Given the description of an element on the screen output the (x, y) to click on. 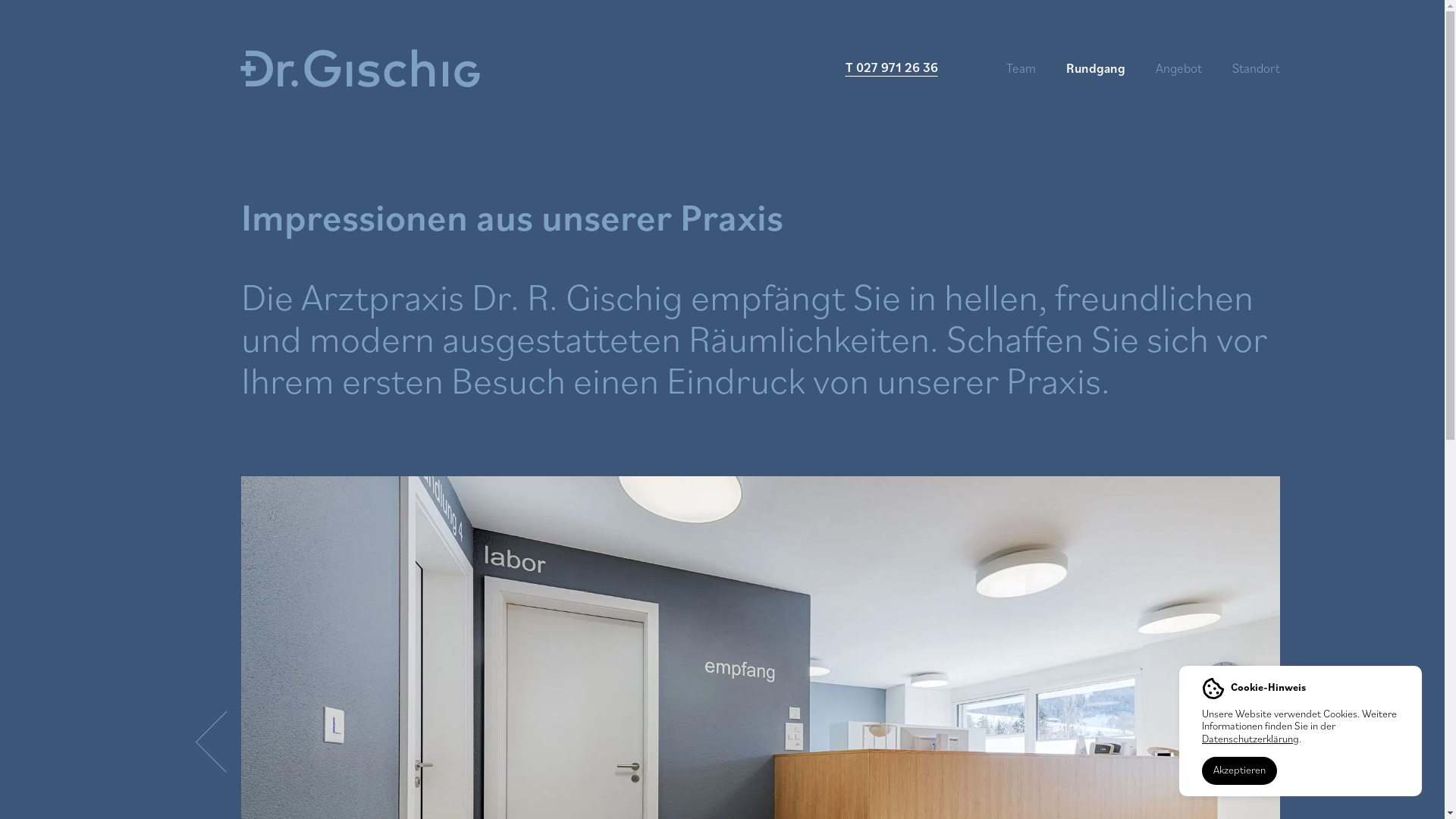
Standort Element type: text (1247, 67)
Rundgang Element type: text (1095, 67)
Angebot Element type: text (1178, 67)
Team Element type: text (1020, 67)
T 027 971 26 36 Element type: text (890, 67)
Akzeptieren Element type: text (1239, 770)
